Given the description of an element on the screen output the (x, y) to click on. 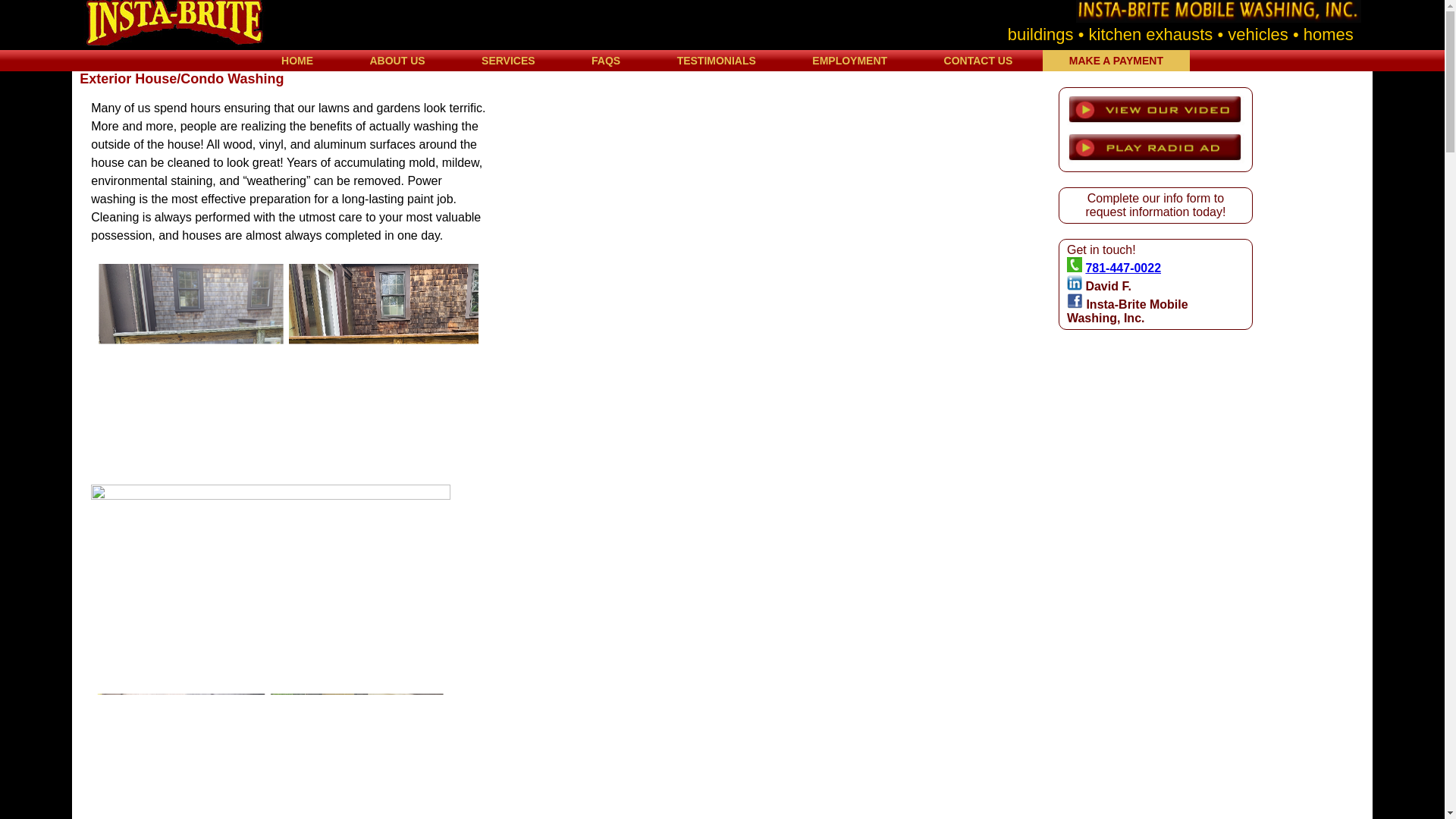
FAQS (605, 60)
Complete our info form to request information today! (1154, 204)
ABOUT US (397, 60)
David F. (1109, 286)
EMPLOYMENT (849, 60)
SERVICES (508, 60)
CONTACT US (978, 60)
MAKE A PAYMENT (1115, 60)
Insta-Brite Mobile Washing, Inc. (1127, 311)
TESTIMONIALS (716, 60)
HOME (297, 60)
781-447-0022 (1122, 267)
